Given the description of an element on the screen output the (x, y) to click on. 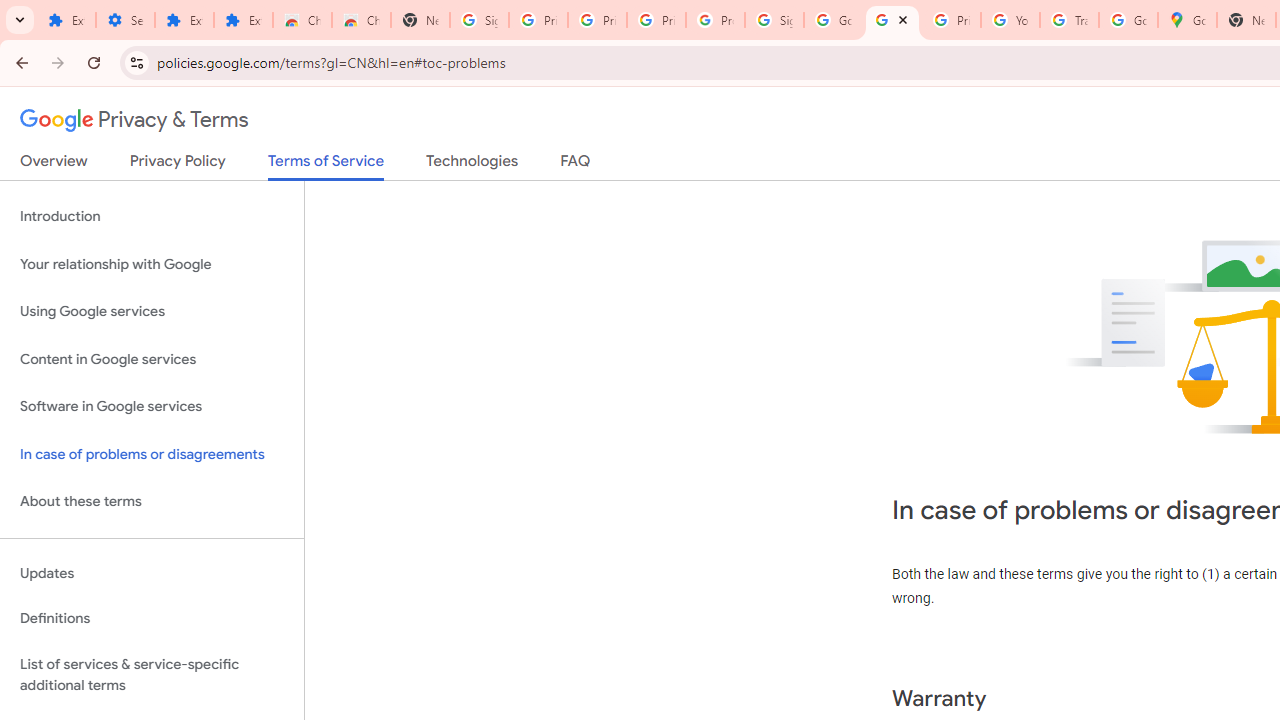
Software in Google services (152, 407)
Extensions (242, 20)
Your relationship with Google (152, 263)
Chrome Web Store (301, 20)
Extensions (66, 20)
